Given the description of an element on the screen output the (x, y) to click on. 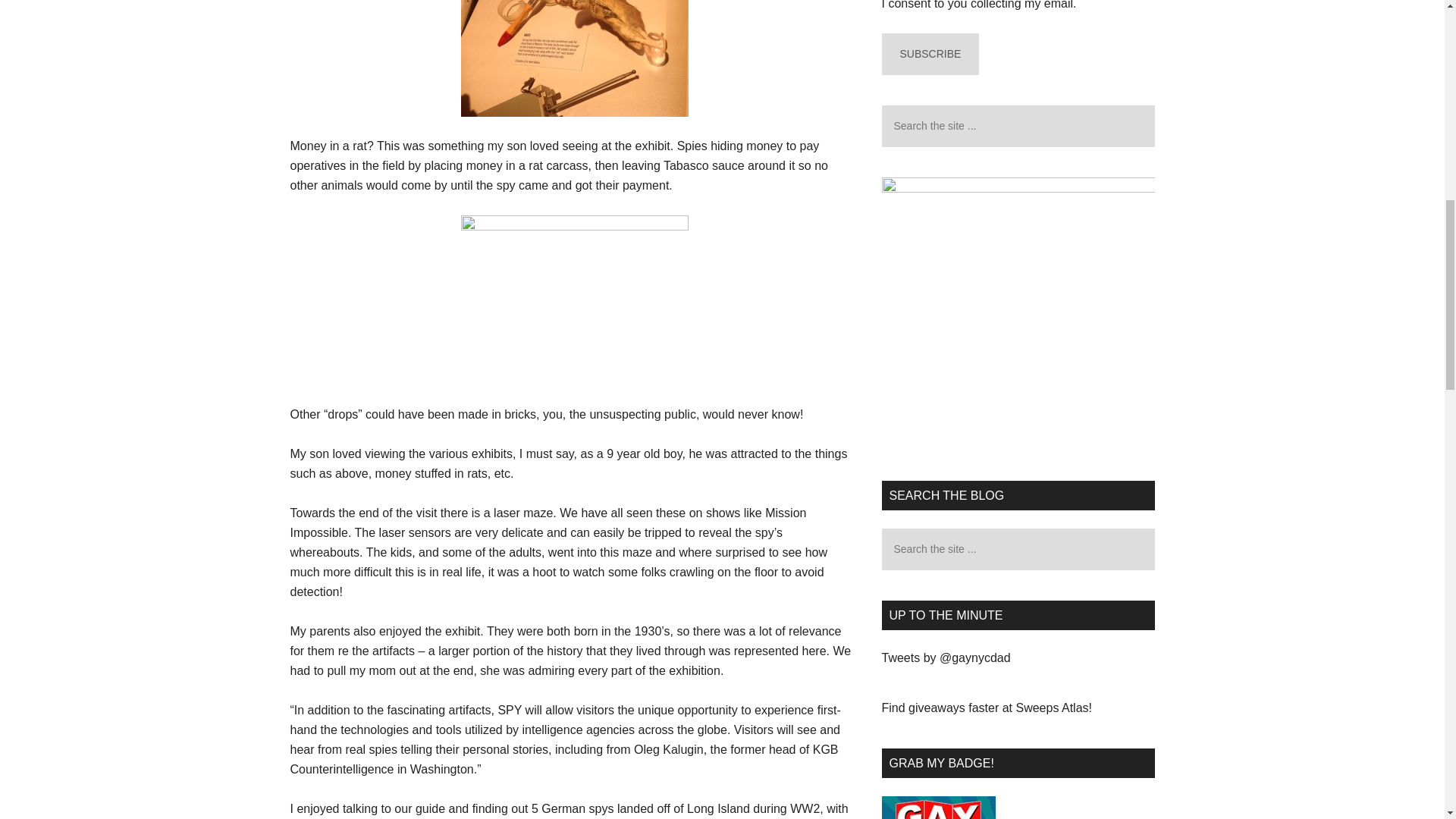
276 (574, 299)
277 (574, 58)
Subscribe (929, 54)
